Given the description of an element on the screen output the (x, y) to click on. 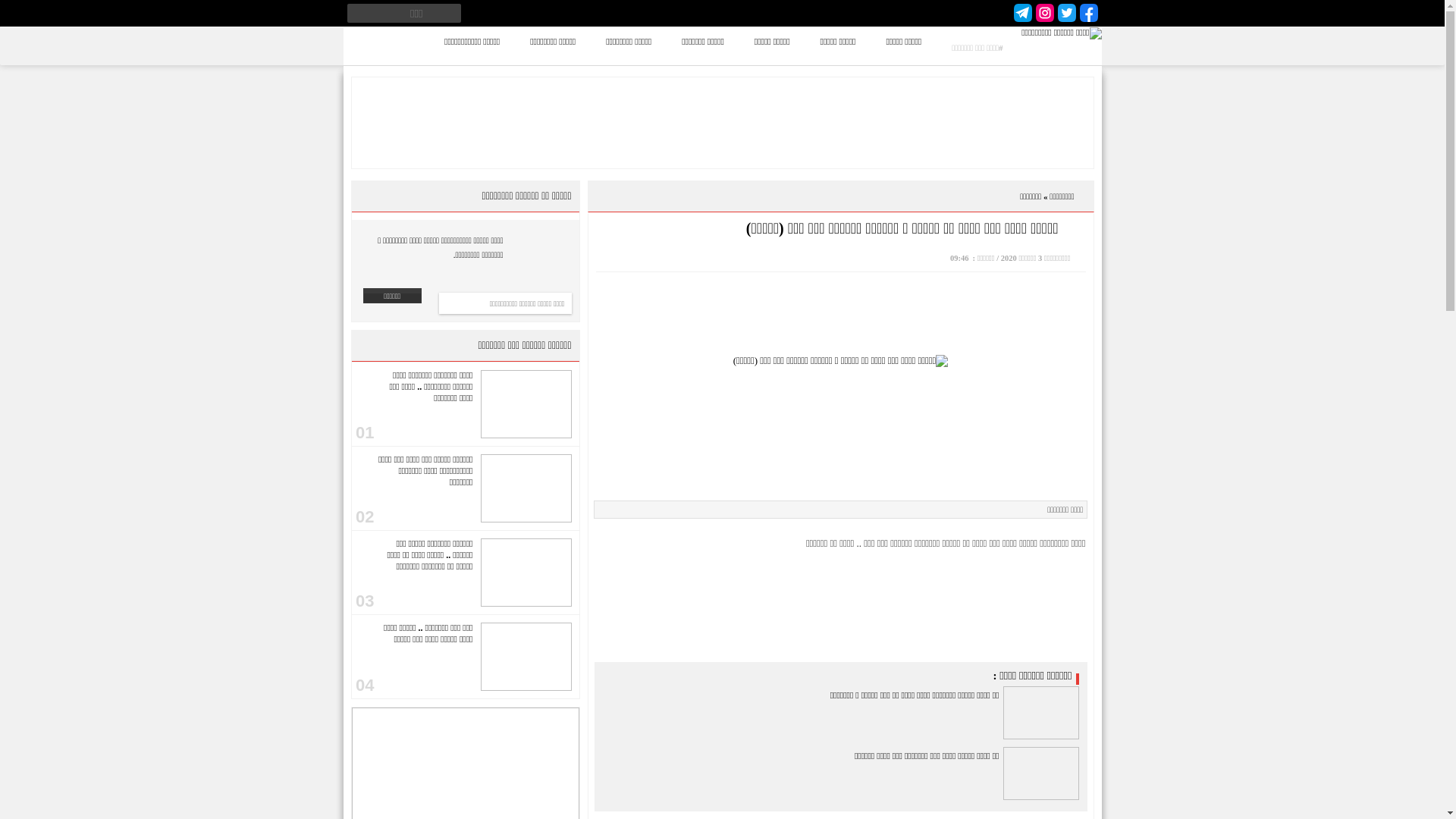
Advertisement Element type: hover (721, 122)
Advertisement Element type: hover (840, 313)
Advertisement Element type: hover (840, 601)
